Given the description of an element on the screen output the (x, y) to click on. 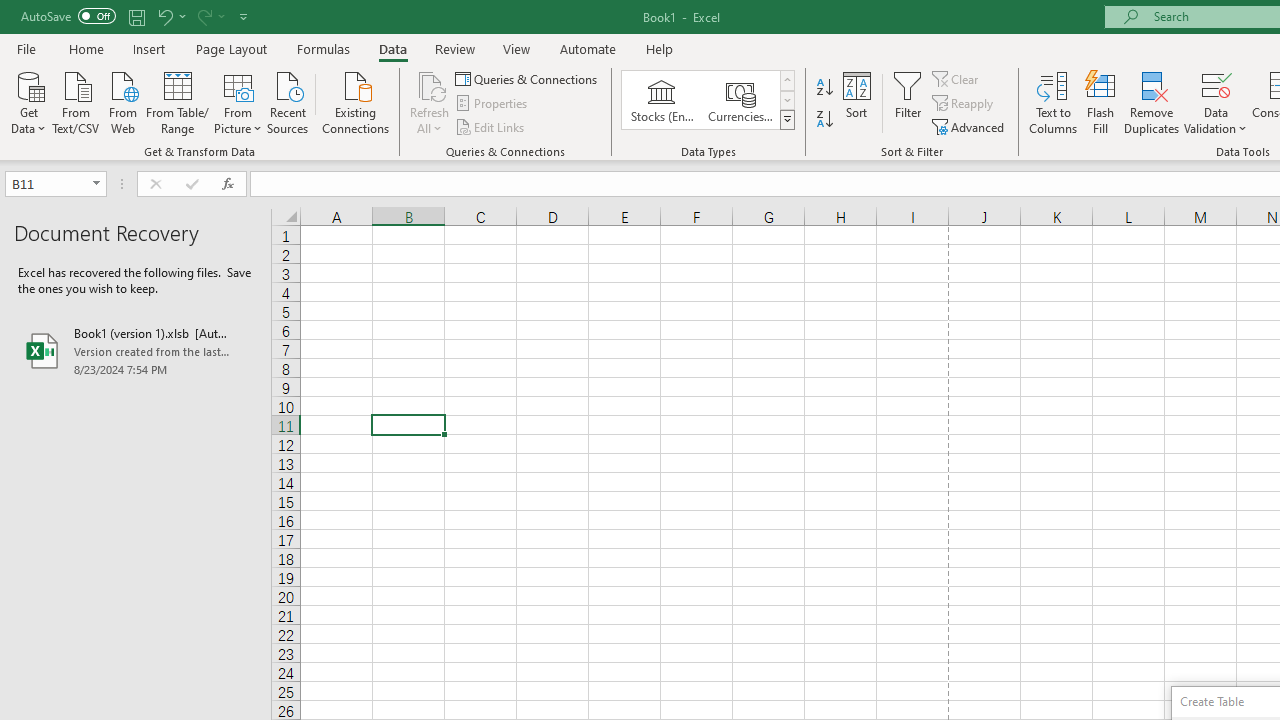
Sort A to Z (824, 87)
Data Types (786, 120)
Sort Z to A (824, 119)
